Given the description of an element on the screen output the (x, y) to click on. 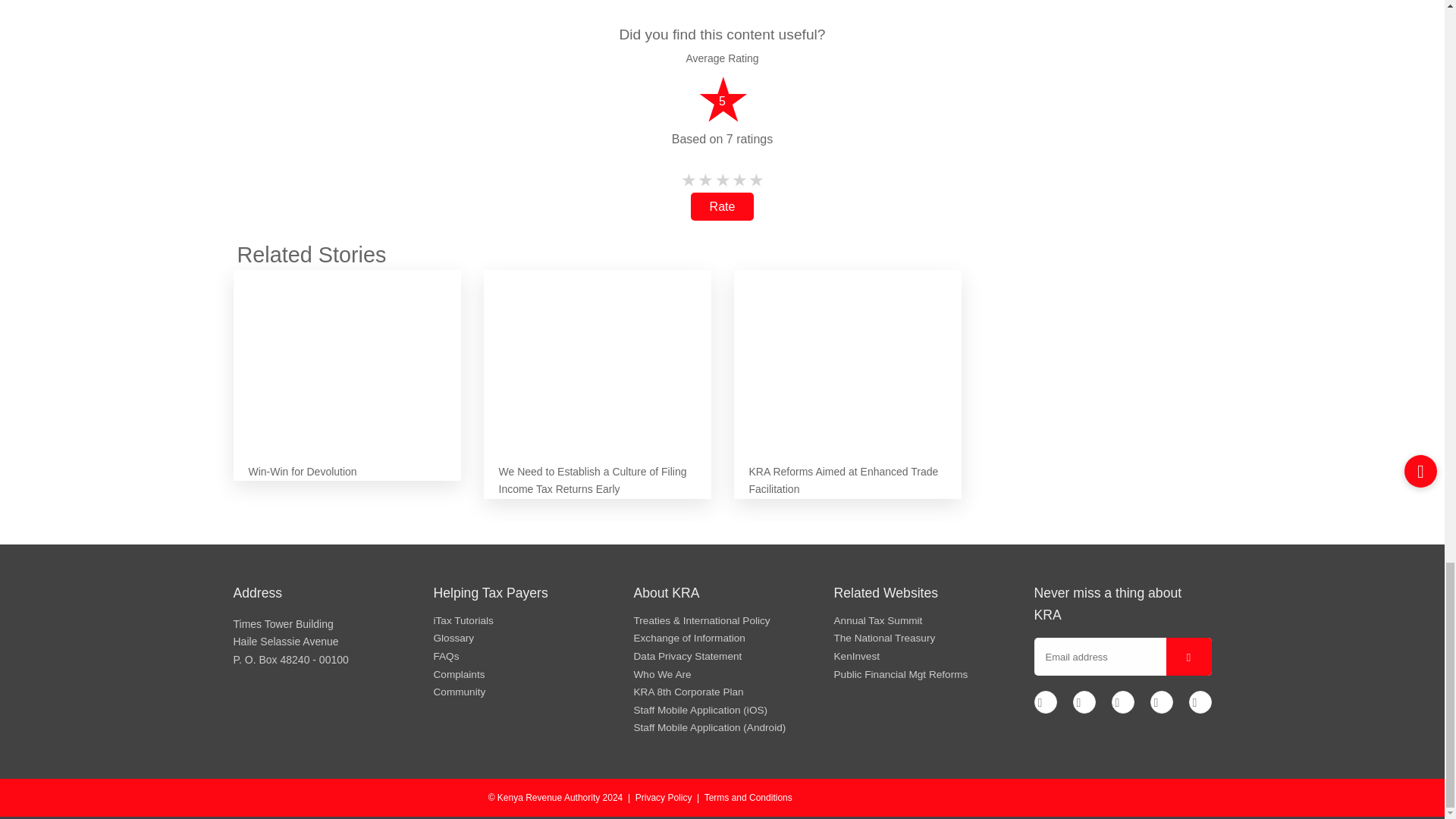
KRA Reforms Aimed at Enhanced Trade Facilitation (846, 353)
Win-Win for Devolution (346, 353)
